Given the description of an element on the screen output the (x, y) to click on. 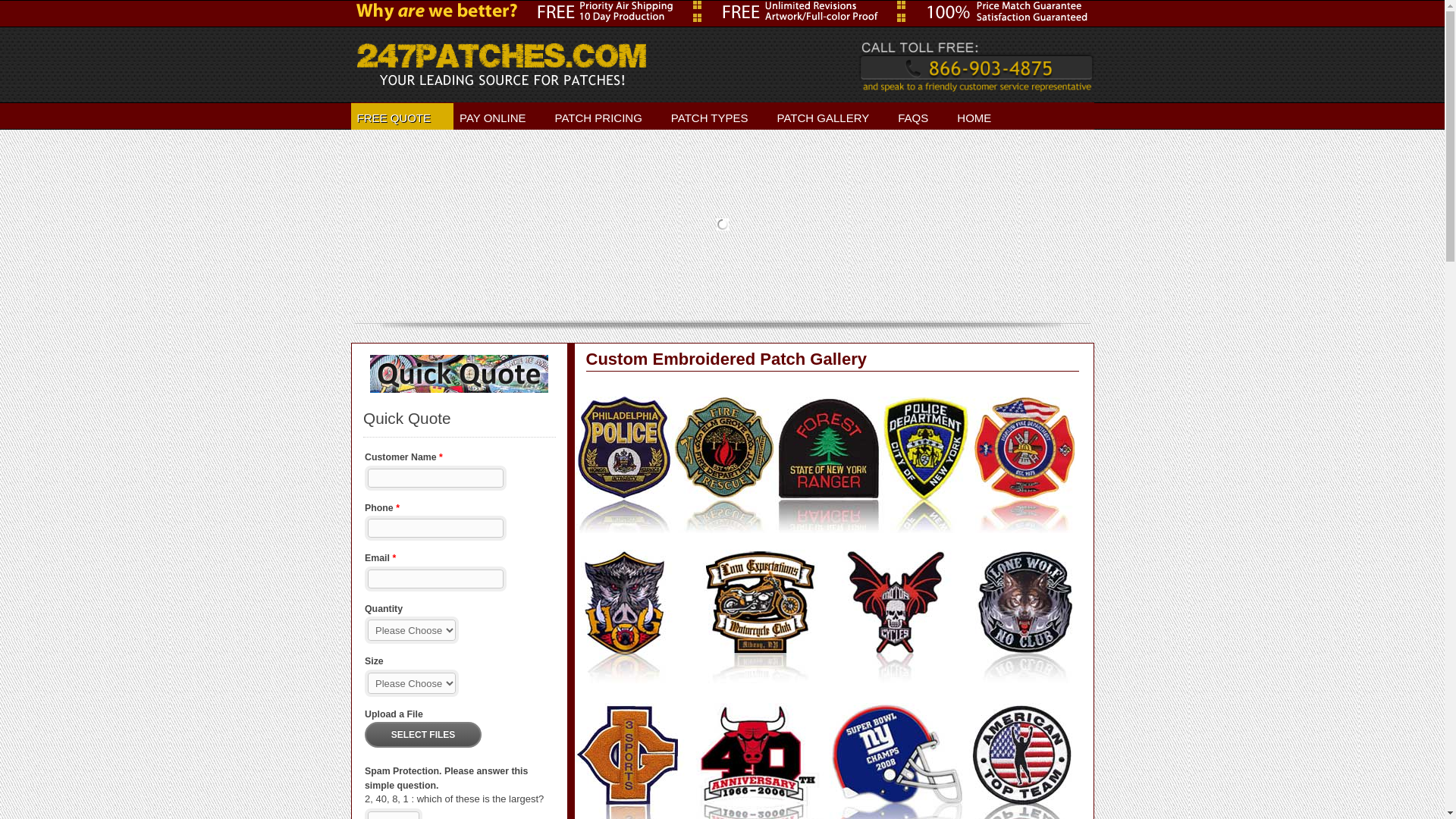
PATCH TYPES Element type: text (718, 116)
PAY ONLINE Element type: text (501, 116)
PATCH PRICING Element type: text (607, 116)
FREE QUOTE Element type: text (401, 116)
PATCH GALLERY Element type: text (831, 116)
HOME Element type: text (981, 116)
FAQS Element type: text (920, 116)
